Given the description of an element on the screen output the (x, y) to click on. 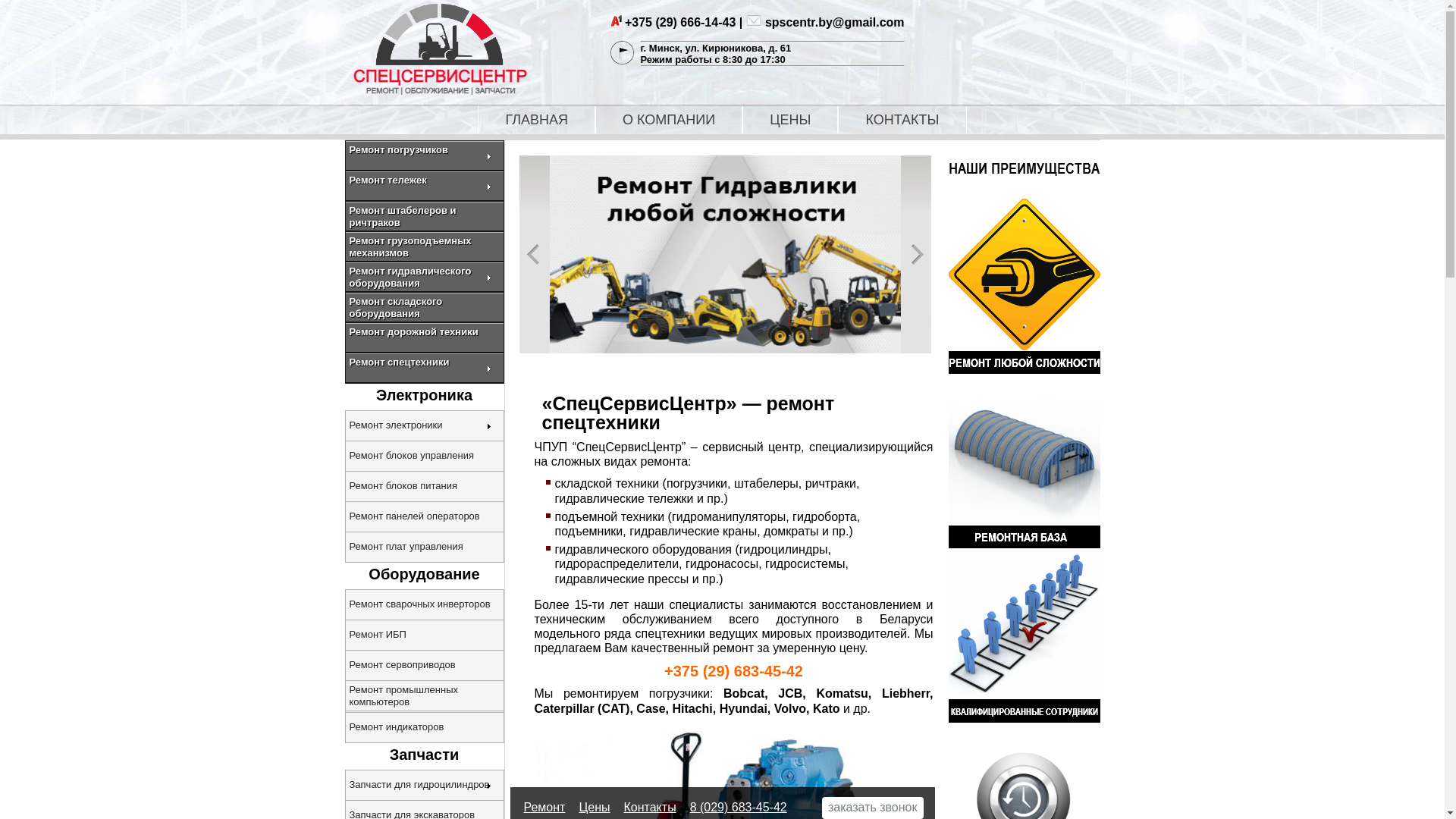
Next Element type: text (915, 254)
+375 (29) 666-14-43 Element type: text (679, 21)
spscentr.by@gmail.com Element type: text (834, 21)
Prev Element type: text (533, 254)
8 (029) 683-45-42 Element type: text (738, 806)
